Given the description of an element on the screen output the (x, y) to click on. 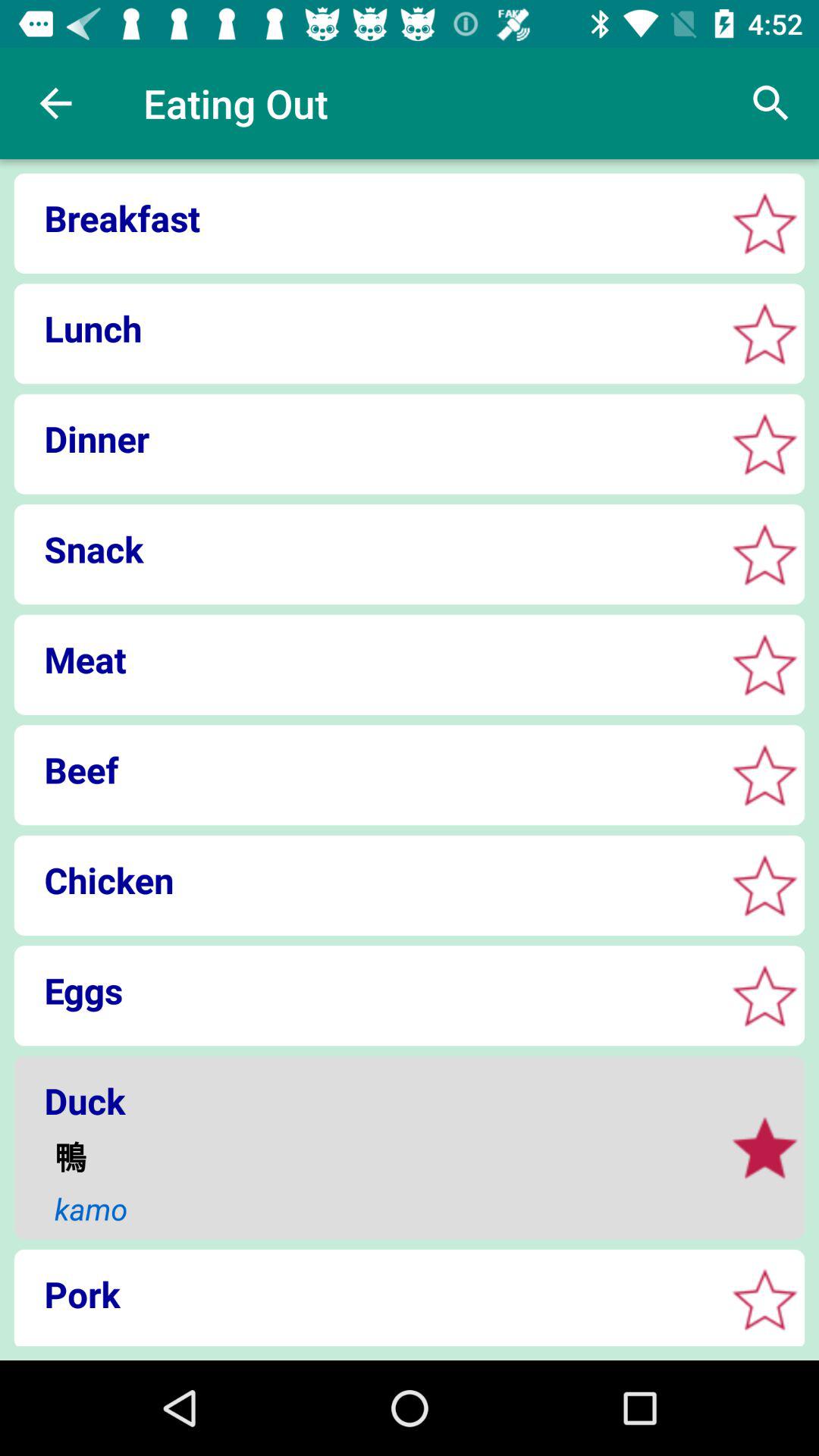
favorite eggs (764, 995)
